Given the description of an element on the screen output the (x, y) to click on. 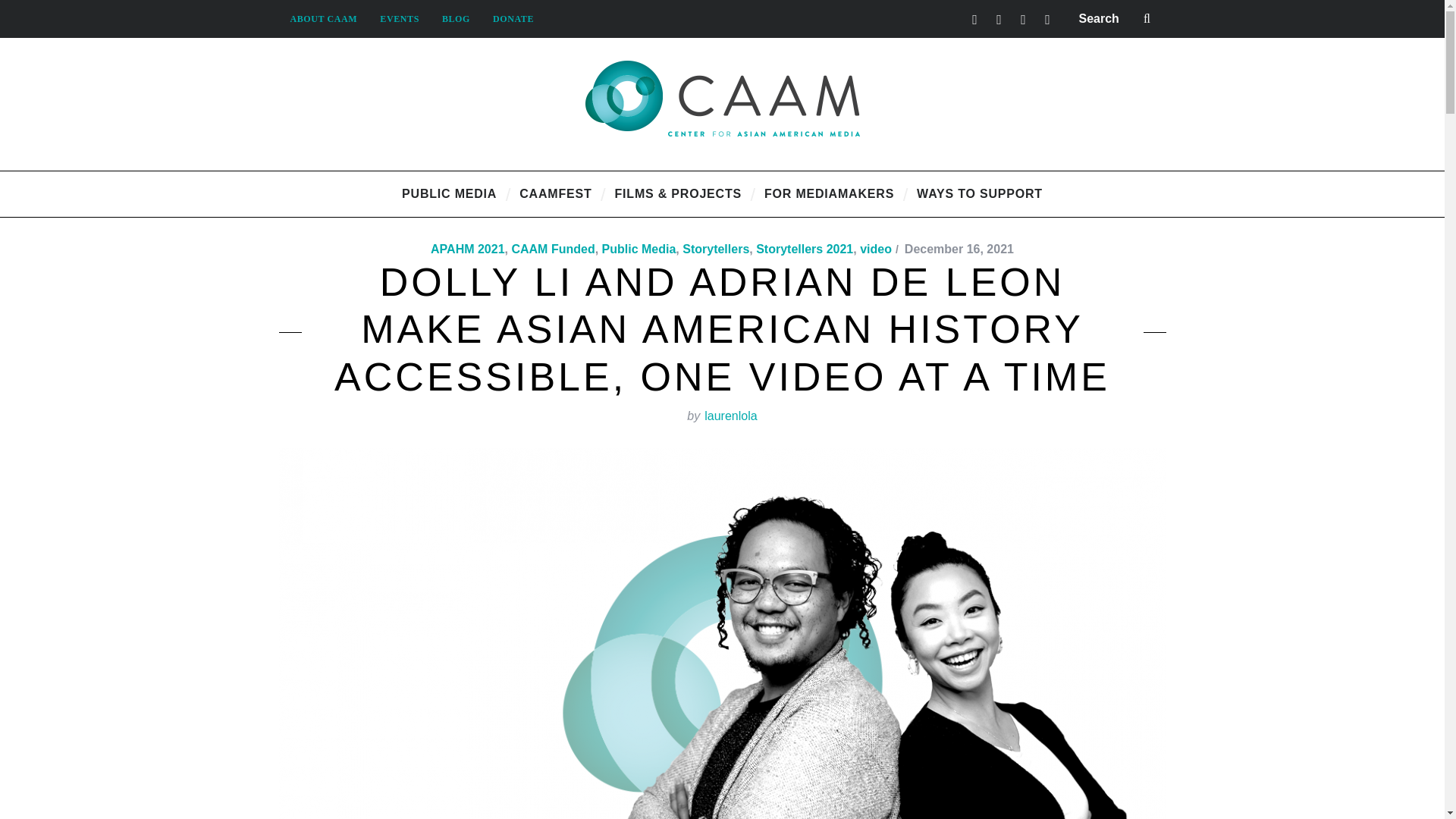
CAAMFEST (555, 194)
DONATE (512, 18)
PUBLIC MEDIA (449, 194)
EVENTS (399, 18)
Search (1116, 18)
BLOG (455, 18)
ABOUT CAAM (324, 18)
